Given the description of an element on the screen output the (x, y) to click on. 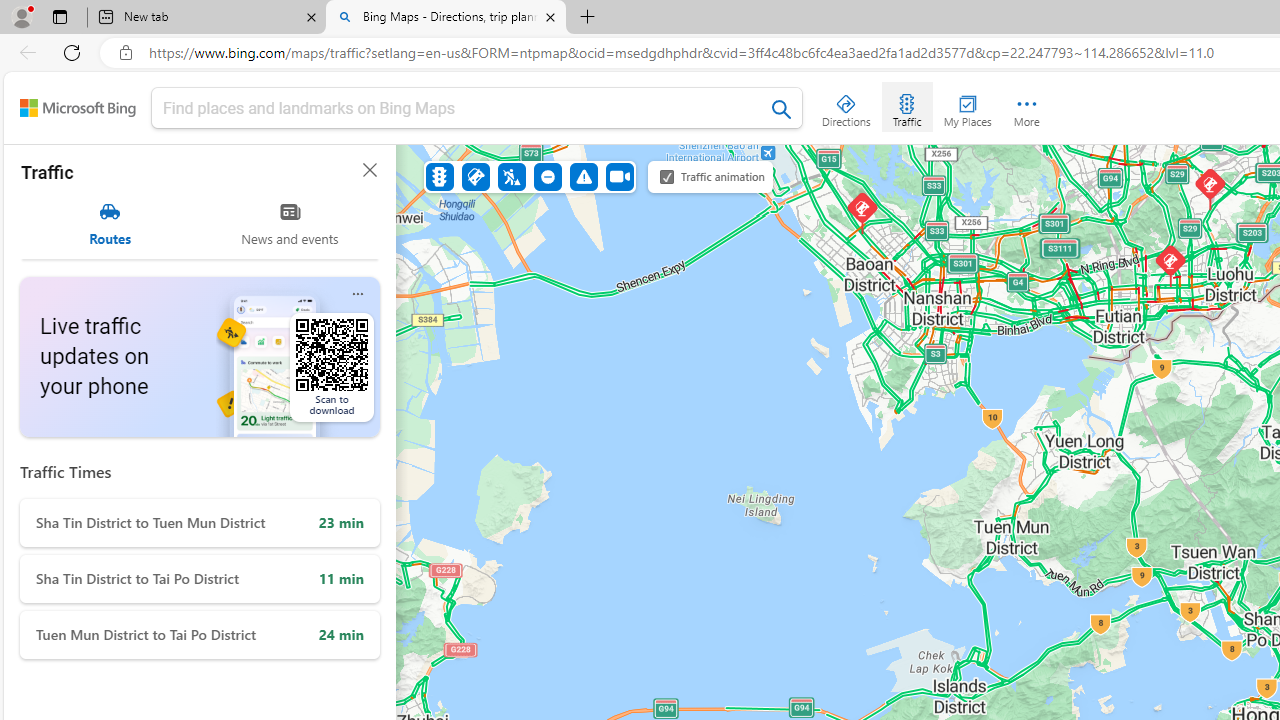
Sha Tin District to Tuen Mun District (200, 522)
Class: inputbox (477, 111)
Routes (109, 223)
Cameras (619, 176)
Add a search (461, 107)
